Given the description of an element on the screen output the (x, y) to click on. 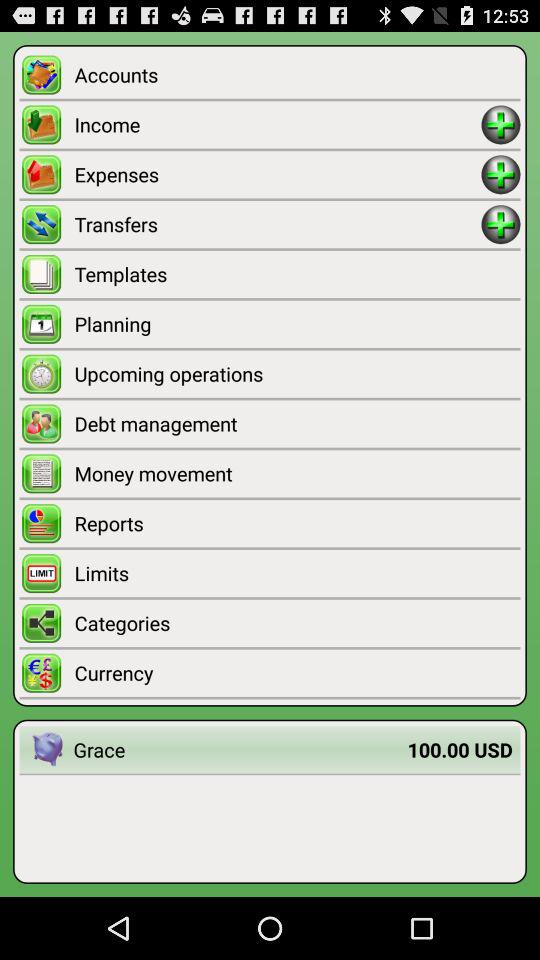
launch the reports item (297, 523)
